Given the description of an element on the screen output the (x, y) to click on. 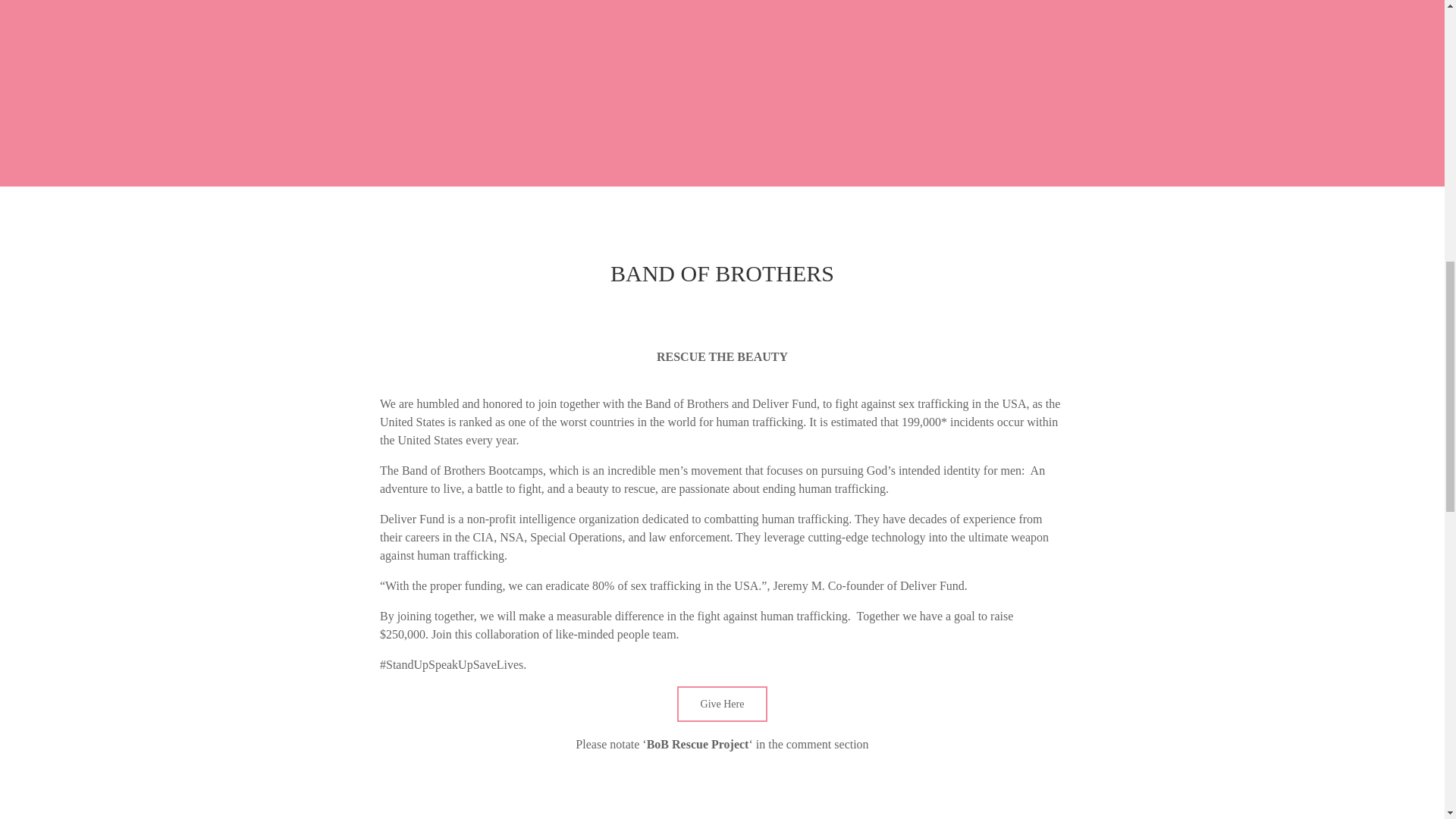
Give Here (722, 703)
Rescue the Beauty (721, 792)
